Given the description of an element on the screen output the (x, y) to click on. 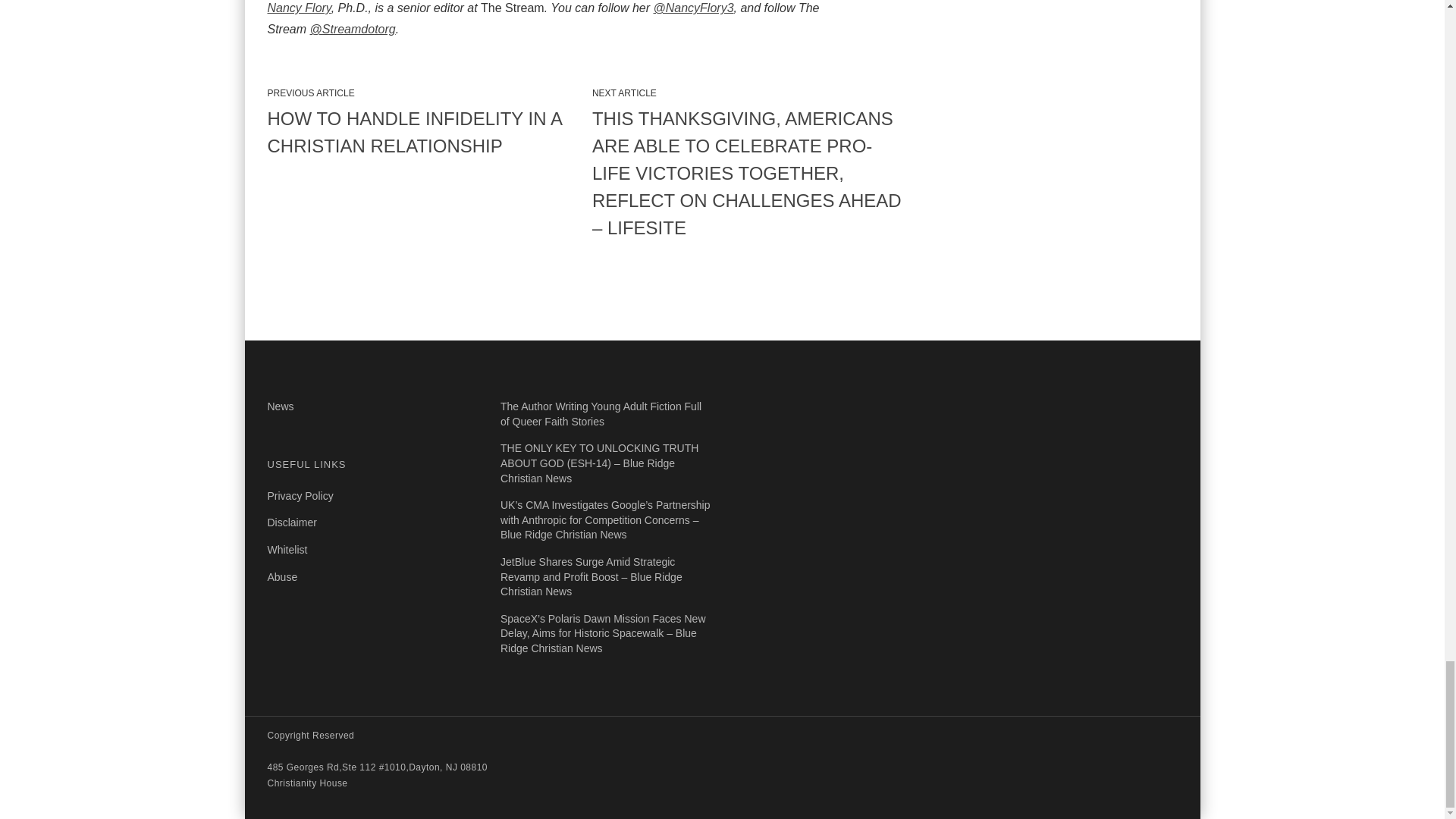
Nancy Flory (298, 7)
HOW TO HANDLE INFIDELITY IN A CHRISTIAN RELATIONSHIP (422, 132)
